Given the description of an element on the screen output the (x, y) to click on. 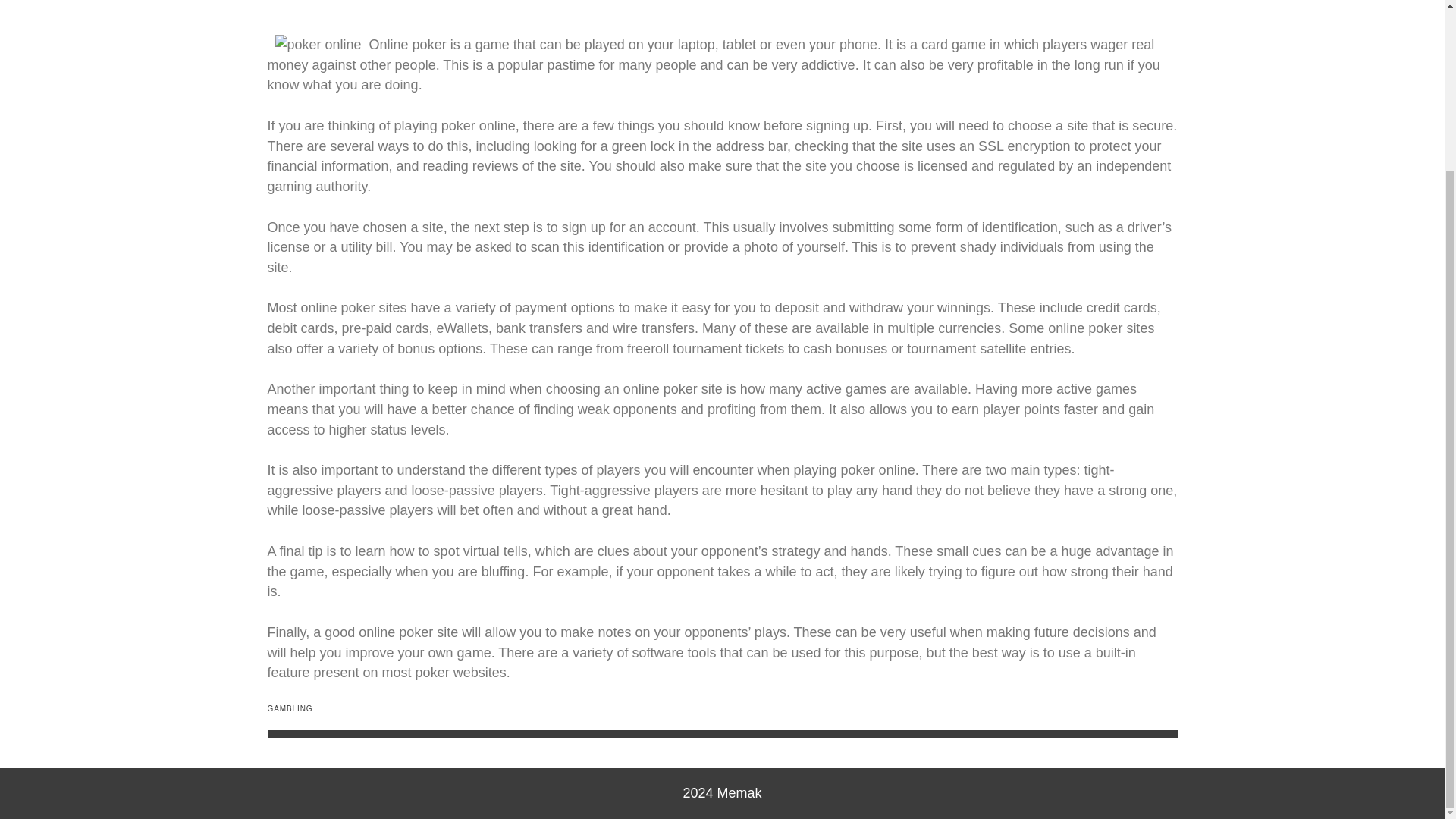
GAMBLING (289, 708)
